Given the description of an element on the screen output the (x, y) to click on. 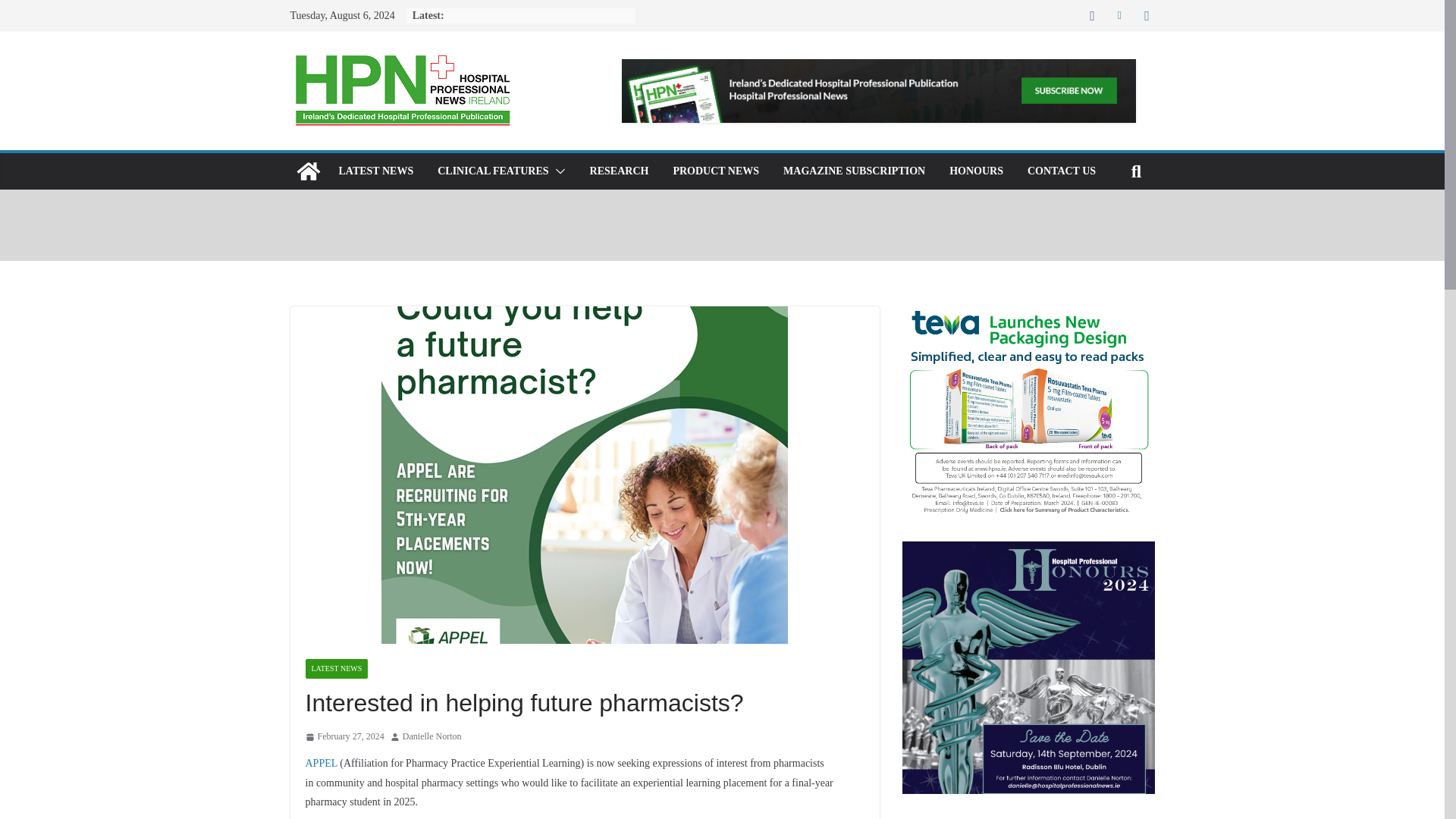
LATEST NEWS (336, 668)
CLINICAL FEATURES (493, 170)
February 27, 2024 (344, 736)
LATEST NEWS (375, 170)
APPEL (320, 763)
PRODUCT NEWS (715, 170)
Danielle Norton (432, 736)
RESEARCH (619, 170)
Danielle Norton (432, 736)
HONOURS (976, 170)
2:42 pm (344, 736)
CONTACT US (1061, 170)
Hospital Professional News (307, 171)
MAGAZINE SUBSCRIPTION (853, 170)
